Given the description of an element on the screen output the (x, y) to click on. 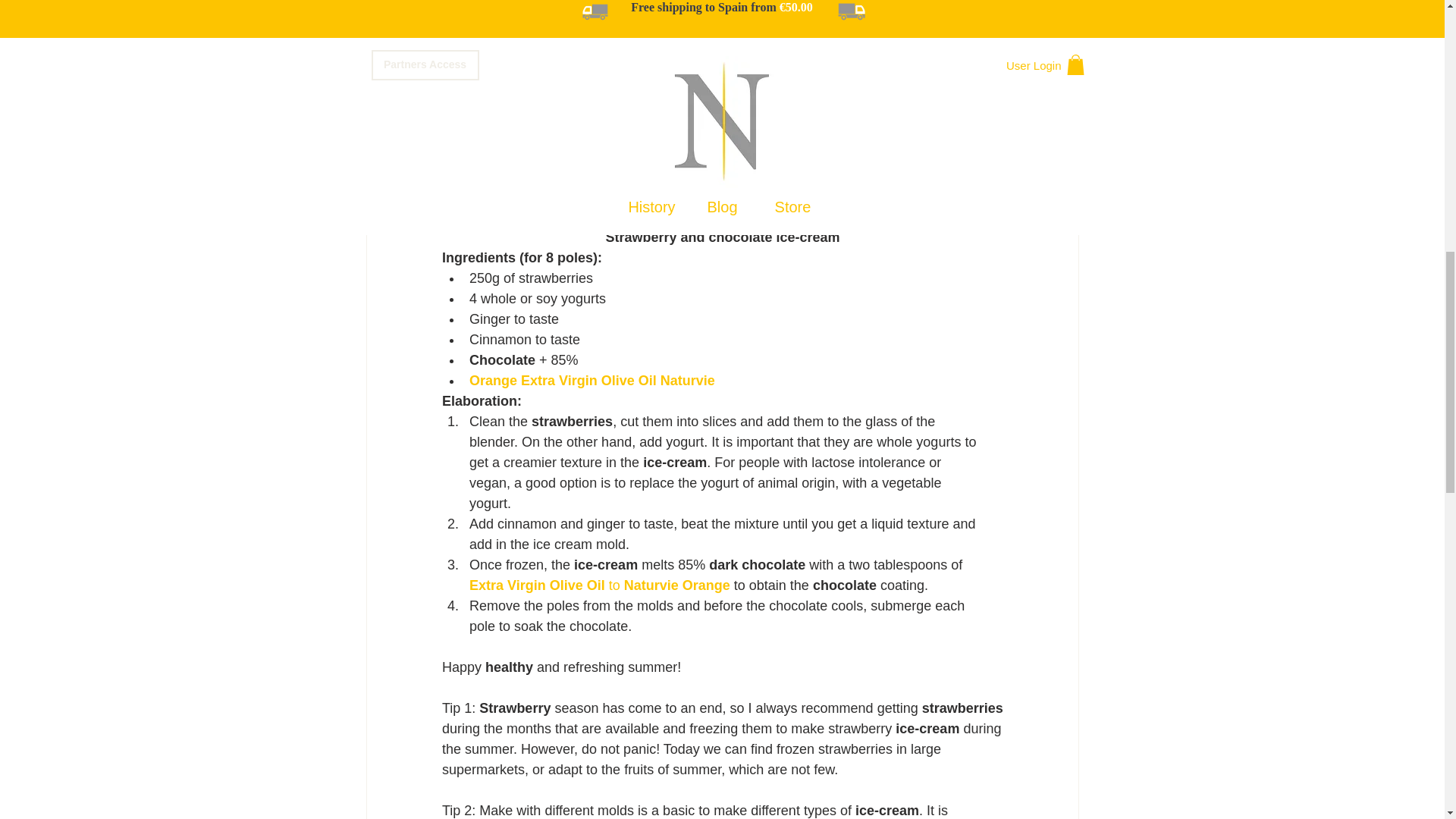
Naturvie (686, 380)
Extra Virgin Olive Oil (536, 585)
 to  (613, 585)
Orange Extra Virgin Olive Oil (562, 380)
Naturvie Orange (676, 585)
